Given the description of an element on the screen output the (x, y) to click on. 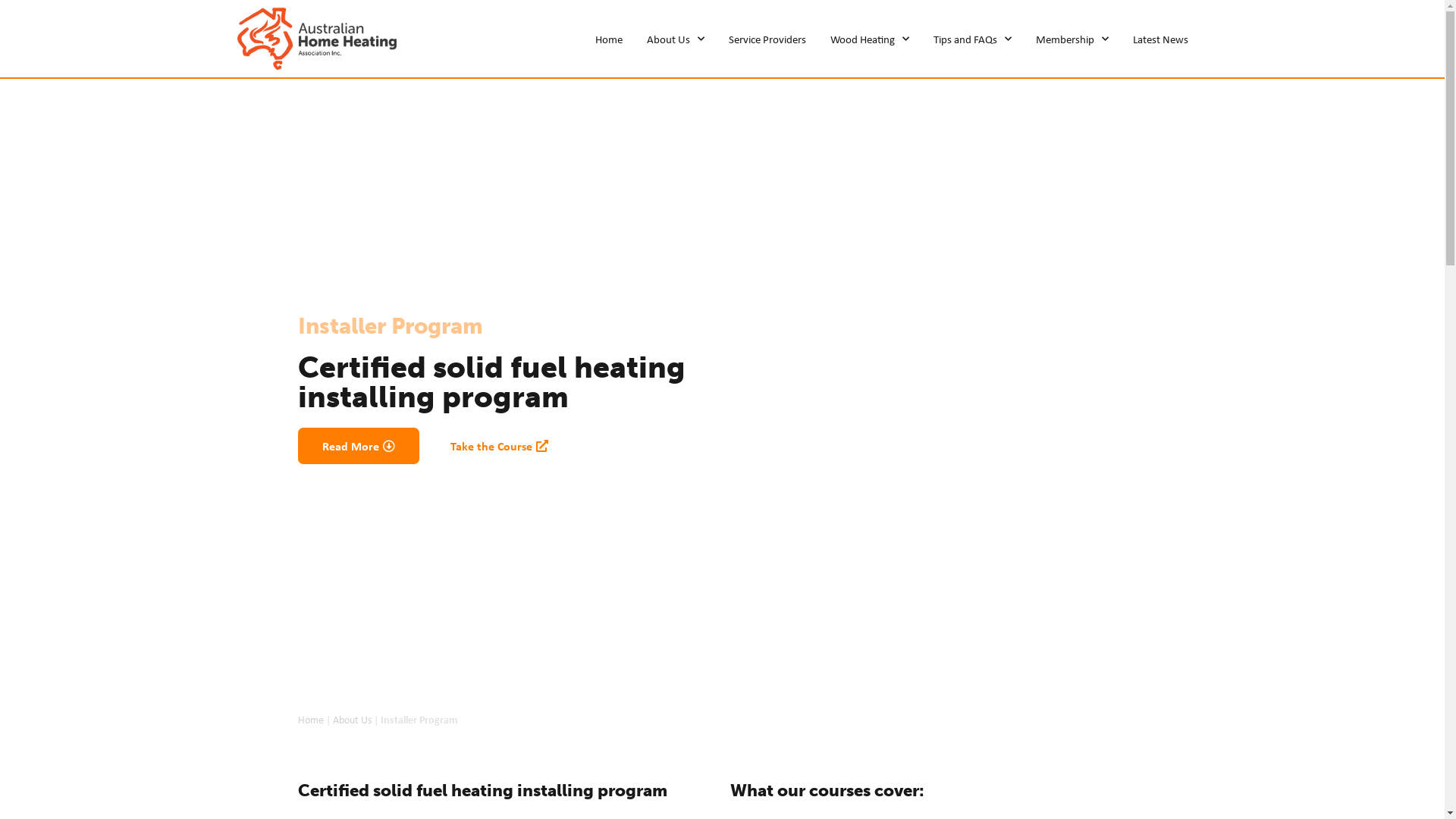
About Us Element type: text (351, 719)
Membership Element type: text (1071, 38)
Read More Element type: text (357, 445)
Service Providers Element type: text (766, 38)
Home Element type: text (607, 38)
About Us Element type: text (674, 38)
Take the Course Element type: text (498, 445)
Tips and FAQs Element type: text (971, 38)
Home Element type: text (310, 719)
Latest News Element type: text (1160, 38)
Wood Heating Element type: text (868, 38)
